Given the description of an element on the screen output the (x, y) to click on. 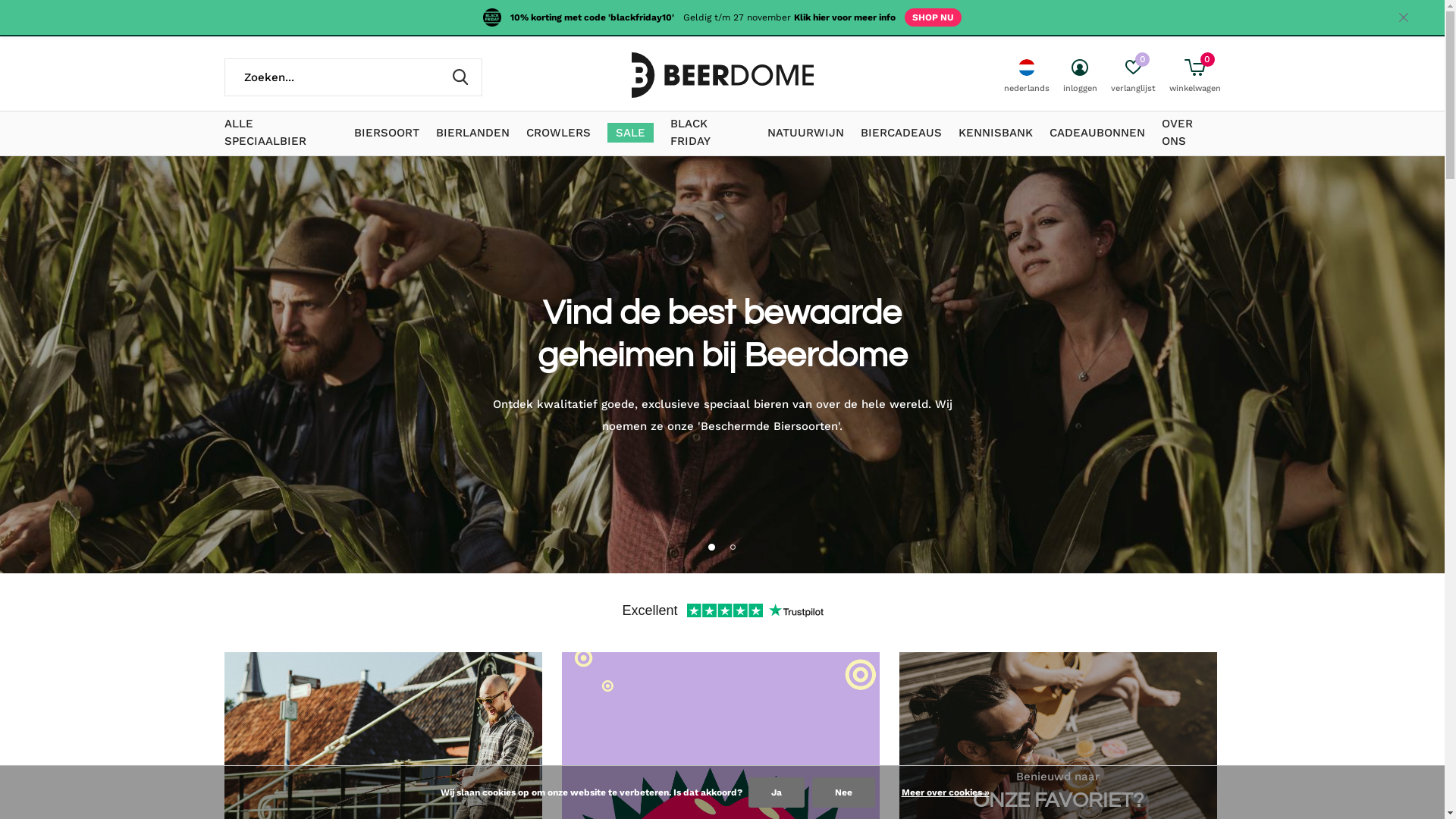
BIERCADEAUS Element type: text (900, 132)
BIERLANDEN Element type: text (472, 132)
4.9 Element type: text (1175, 18)
OVER ONS Element type: text (1190, 132)
BLACK FRIDAY Element type: text (710, 132)
NATUURWIJN Element type: text (805, 132)
KENNISBANK Element type: text (995, 132)
ZOEKEN Element type: text (460, 77)
ALLE SPECIAALBIER Element type: text (281, 132)
SHOP NU Element type: text (932, 17)
inloggen Element type: text (1080, 78)
nederlands Element type: text (1026, 78)
Klik hier voor meer info Element type: text (844, 17)
verlanglijst
0 Element type: text (1132, 78)
Nee Element type: text (842, 792)
CROWLERS Element type: text (558, 132)
Customer reviews powered by Trustpilot Element type: hover (722, 612)
CADEAUBONNEN Element type: text (1097, 132)
Ja Element type: text (775, 792)
SALE Element type: text (630, 132)
BIERSOORT Element type: text (386, 132)
winkelwagen
0 Element type: text (1194, 78)
